Given the description of an element on the screen output the (x, y) to click on. 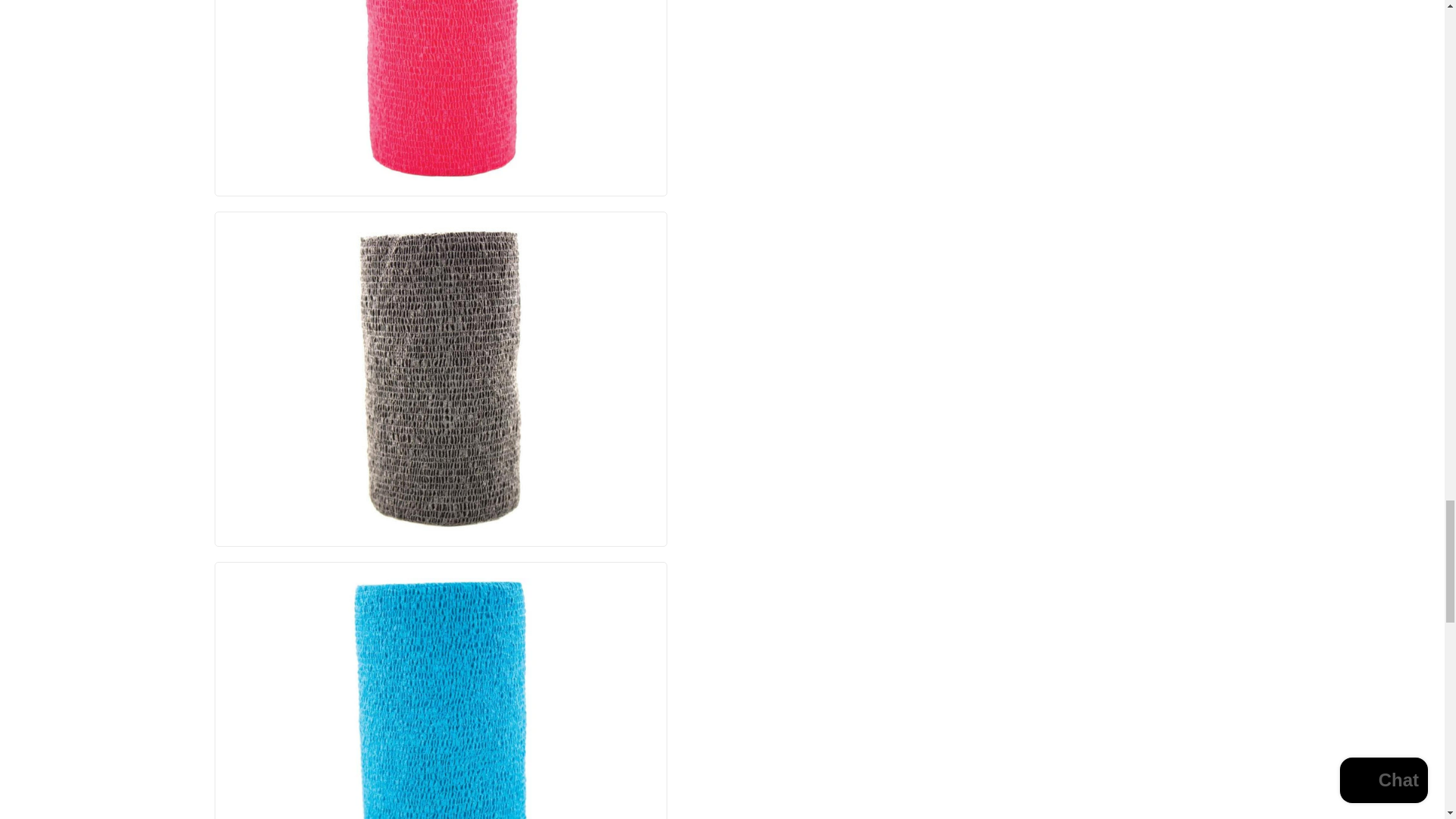
Open Product Zoom (441, 378)
Open Product Zoom (441, 90)
Open Product Zoom (441, 698)
